Given the description of an element on the screen output the (x, y) to click on. 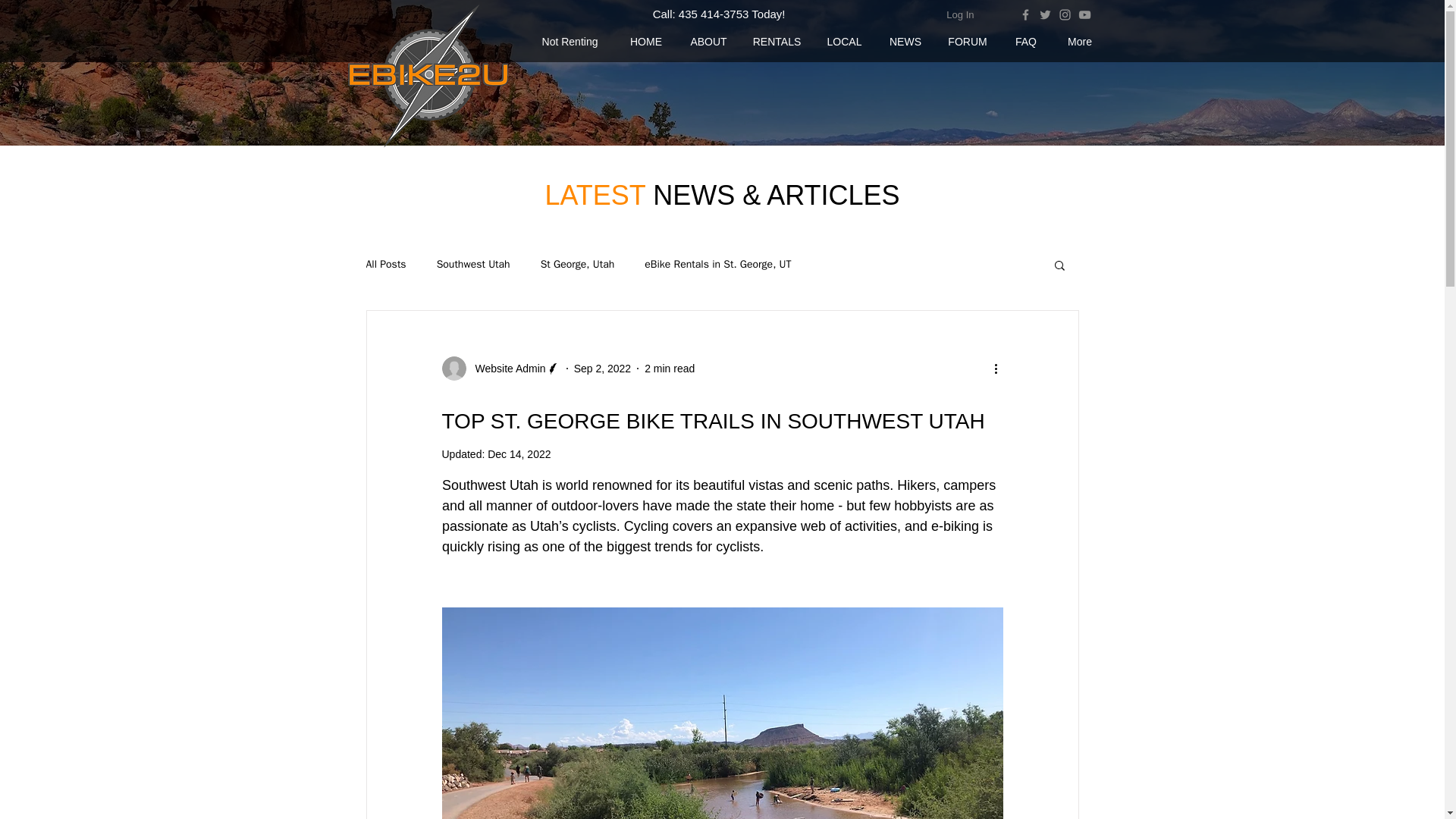
ABOUT (709, 41)
Not Renting (568, 41)
Dec 14, 2022 (518, 453)
HOME (645, 41)
NEWS (905, 41)
Website Admin (504, 368)
Sep 2, 2022 (602, 368)
eBike Rentals in St. George, UT (717, 264)
St George, Utah (577, 264)
Log In (960, 15)
